Given the description of an element on the screen output the (x, y) to click on. 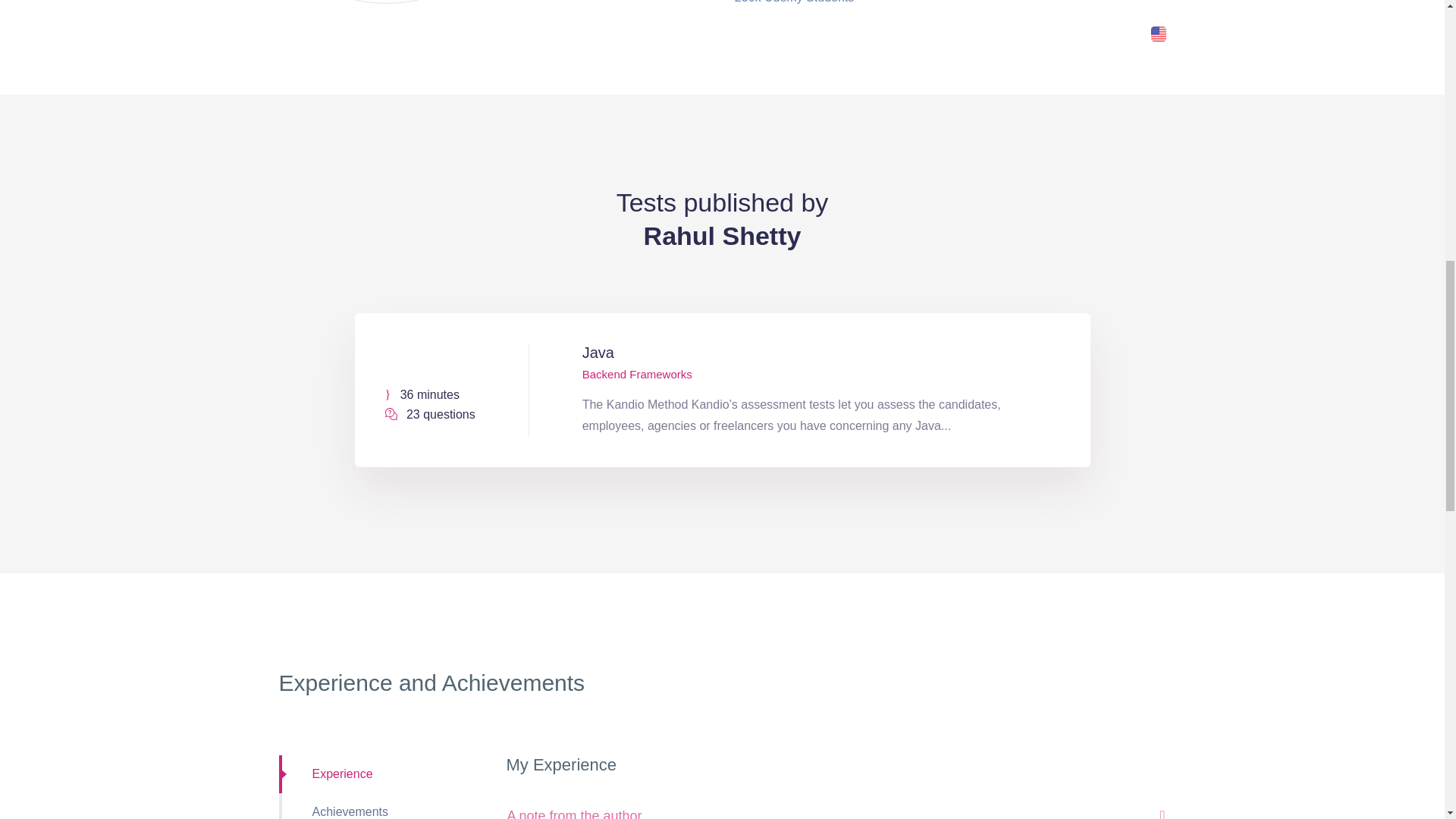
Experience (381, 774)
A note from the author (836, 804)
Achievements (381, 806)
